Given the description of an element on the screen output the (x, y) to click on. 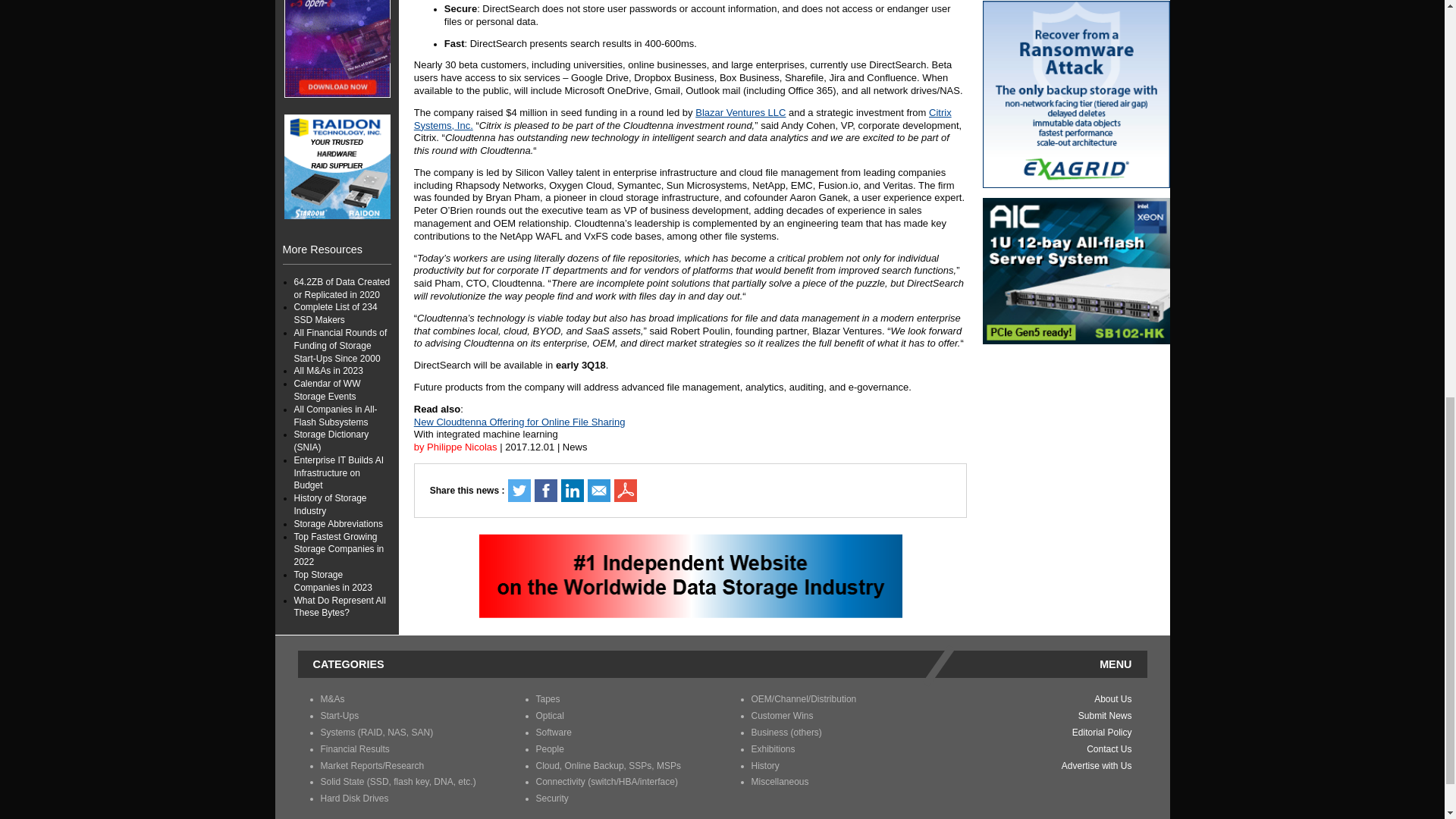
Top Storage Companies in 2023 (333, 31)
Top Fastest Growing Storage Companies in 2022 (339, 9)
What Do Represent All These Bytes? (339, 56)
